Given the description of an element on the screen output the (x, y) to click on. 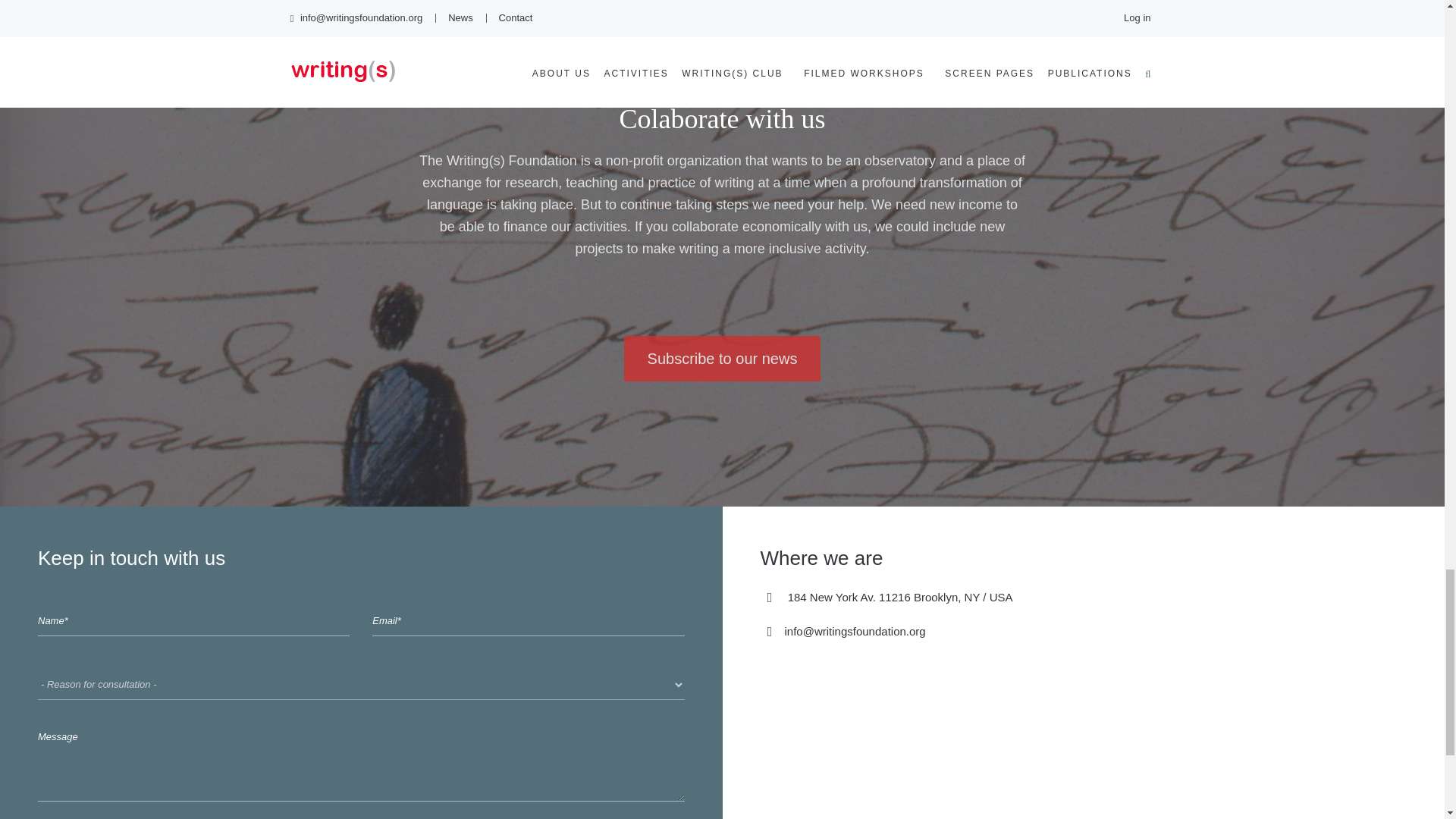
Subscribe to our news (722, 358)
